Given the description of an element on the screen output the (x, y) to click on. 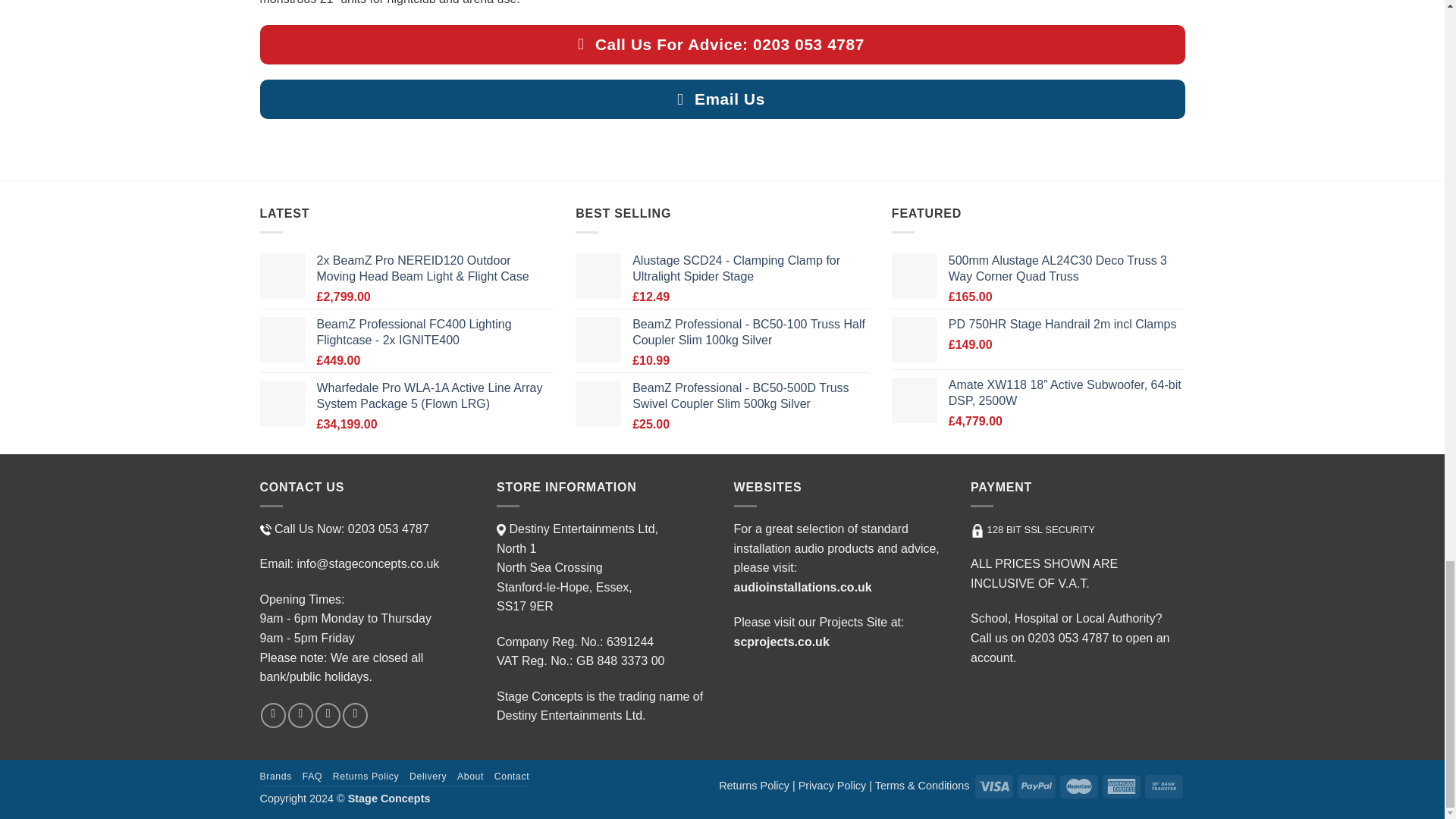
Follow on LinkedIn (355, 715)
Send us an email (300, 715)
Call us (327, 715)
Follow on Facebook (272, 715)
